Given the description of an element on the screen output the (x, y) to click on. 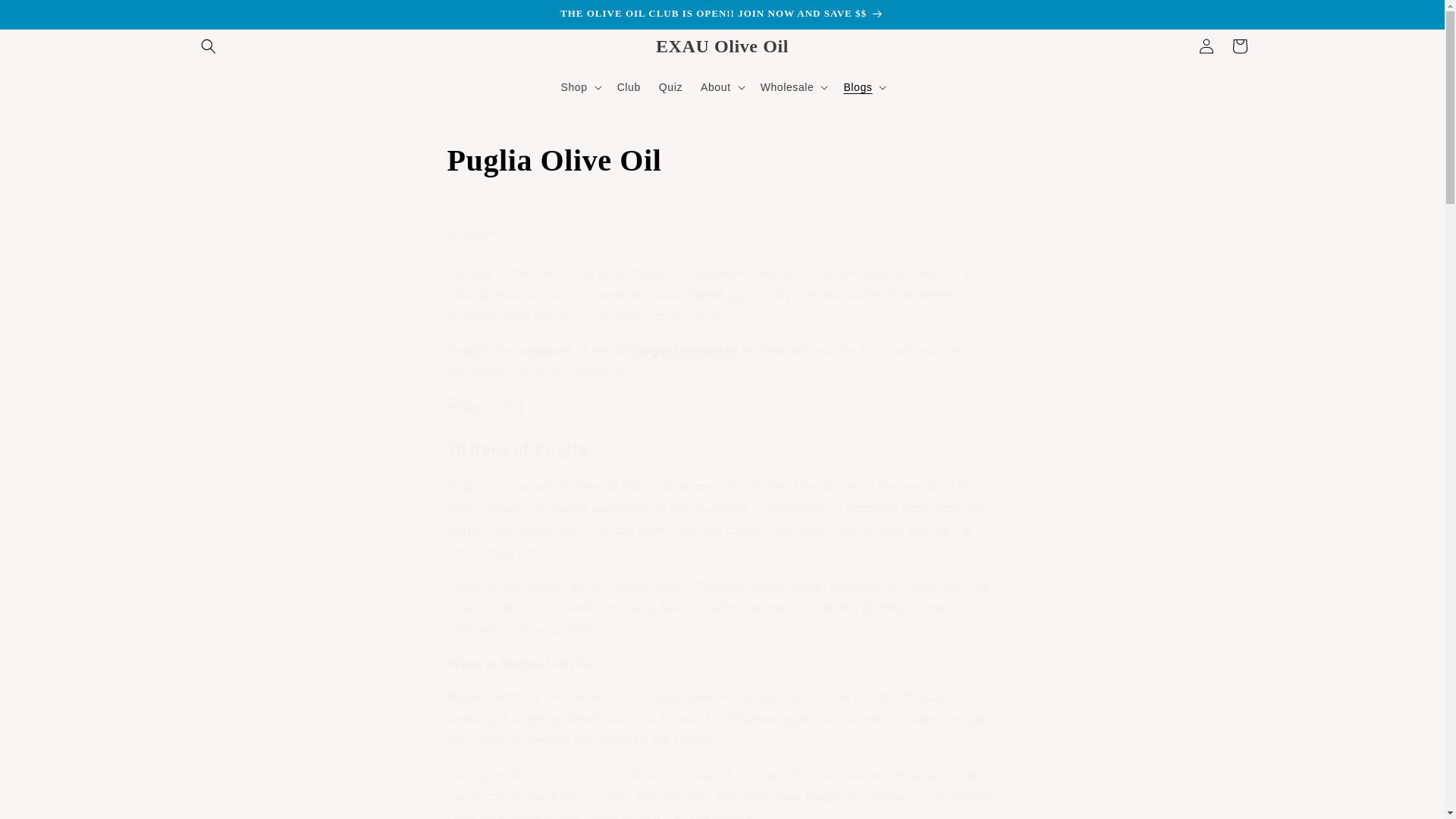
Skip to content (45, 17)
Share (721, 234)
Puglia Olive Oil (721, 160)
EXAU Olive Oil (721, 46)
